Given the description of an element on the screen output the (x, y) to click on. 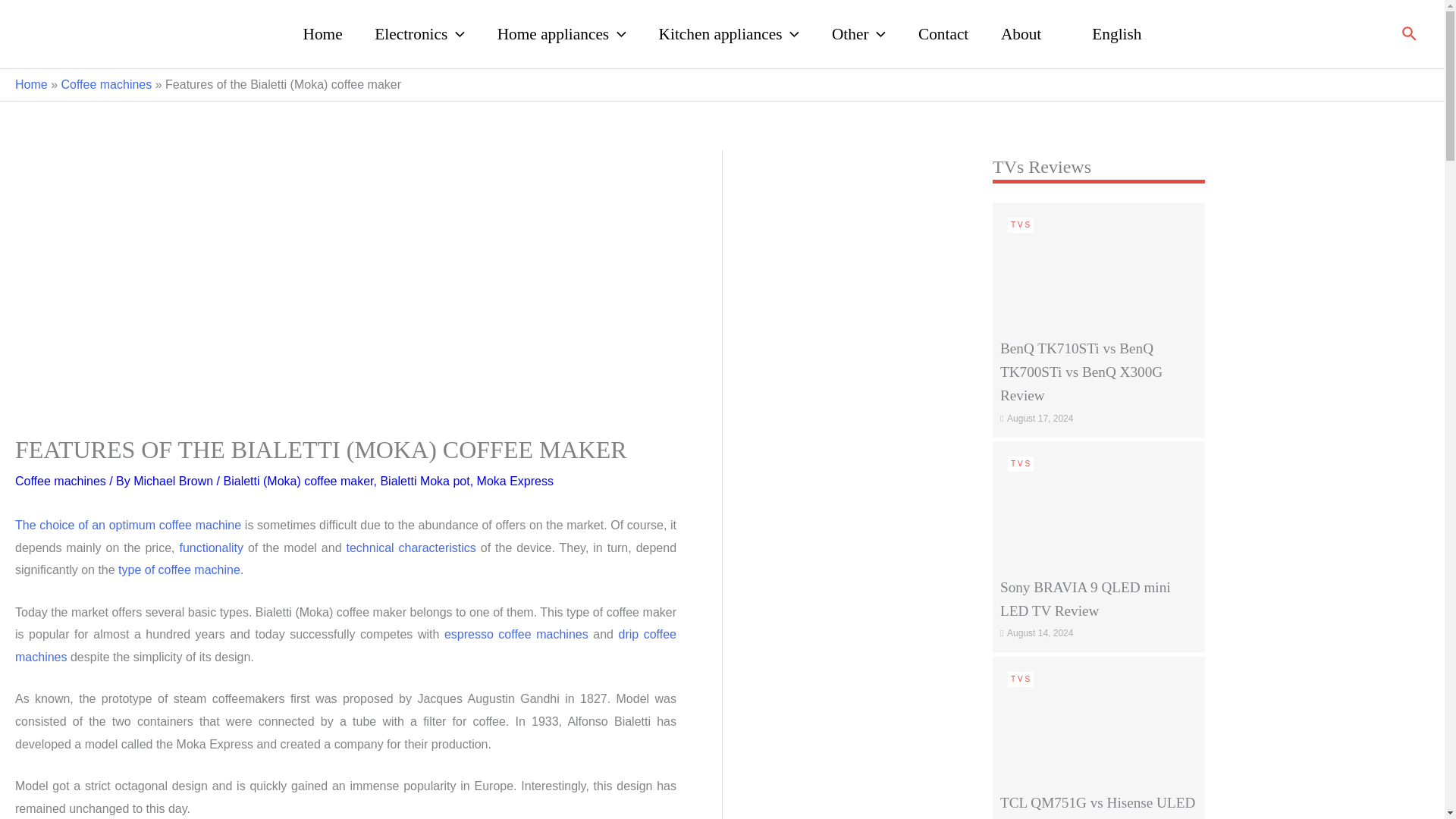
Home (322, 33)
Electronics (419, 33)
Home appliances (561, 33)
Kitchen appliances (728, 33)
English (1107, 33)
View all posts by Michael Brown (174, 481)
